Given the description of an element on the screen output the (x, y) to click on. 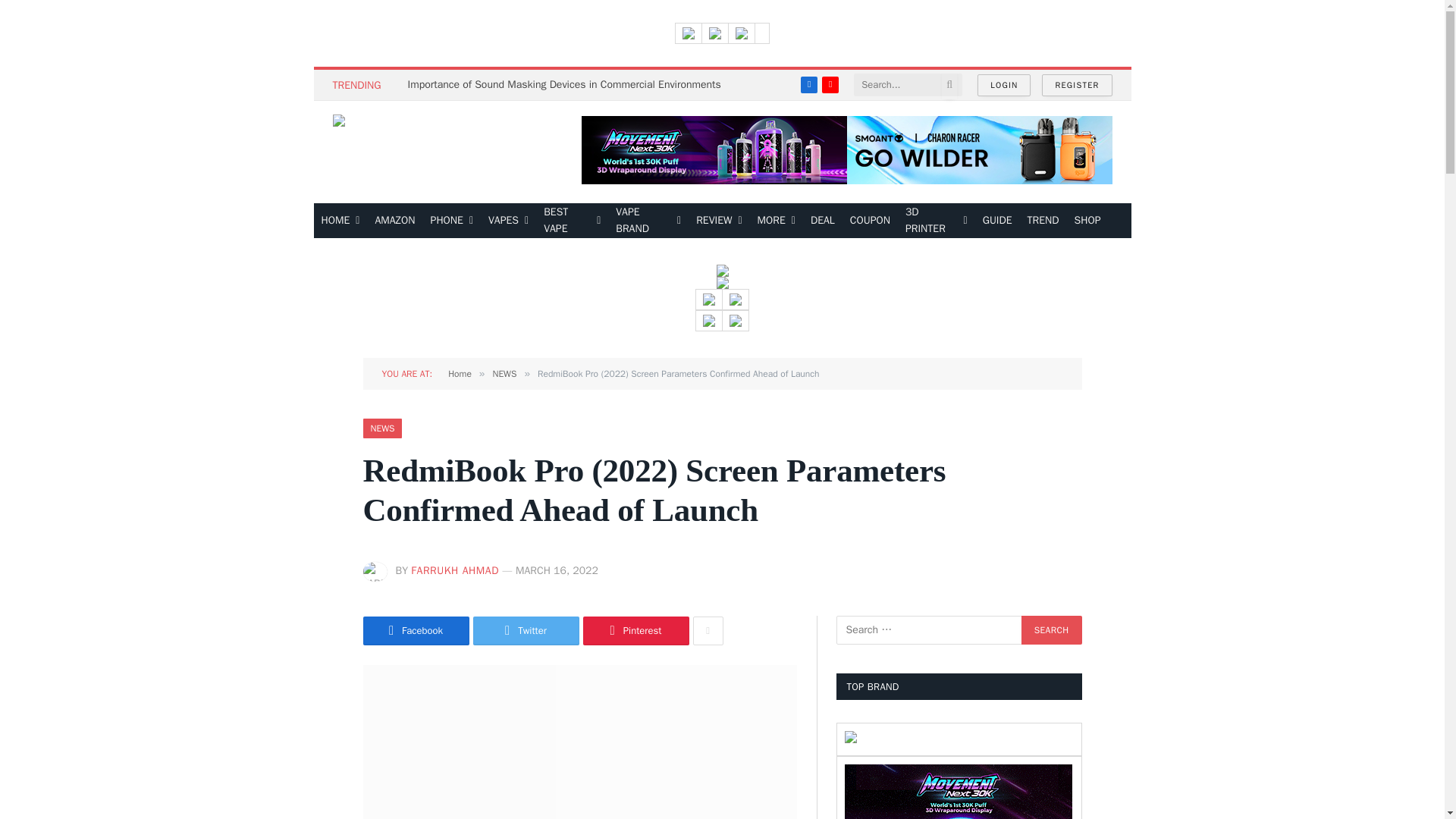
PHONE (451, 220)
Posts by Farrukh Ahmad (454, 570)
Share on Twitter (526, 630)
Search (1051, 629)
Show More Social Sharing (708, 630)
LOGIN (1003, 85)
AMAZON (394, 220)
HOME (341, 220)
Facebook (808, 84)
YouTube (830, 84)
REGISTER (1077, 85)
Share on Pinterest (635, 630)
Search (1051, 629)
